Given the description of an element on the screen output the (x, y) to click on. 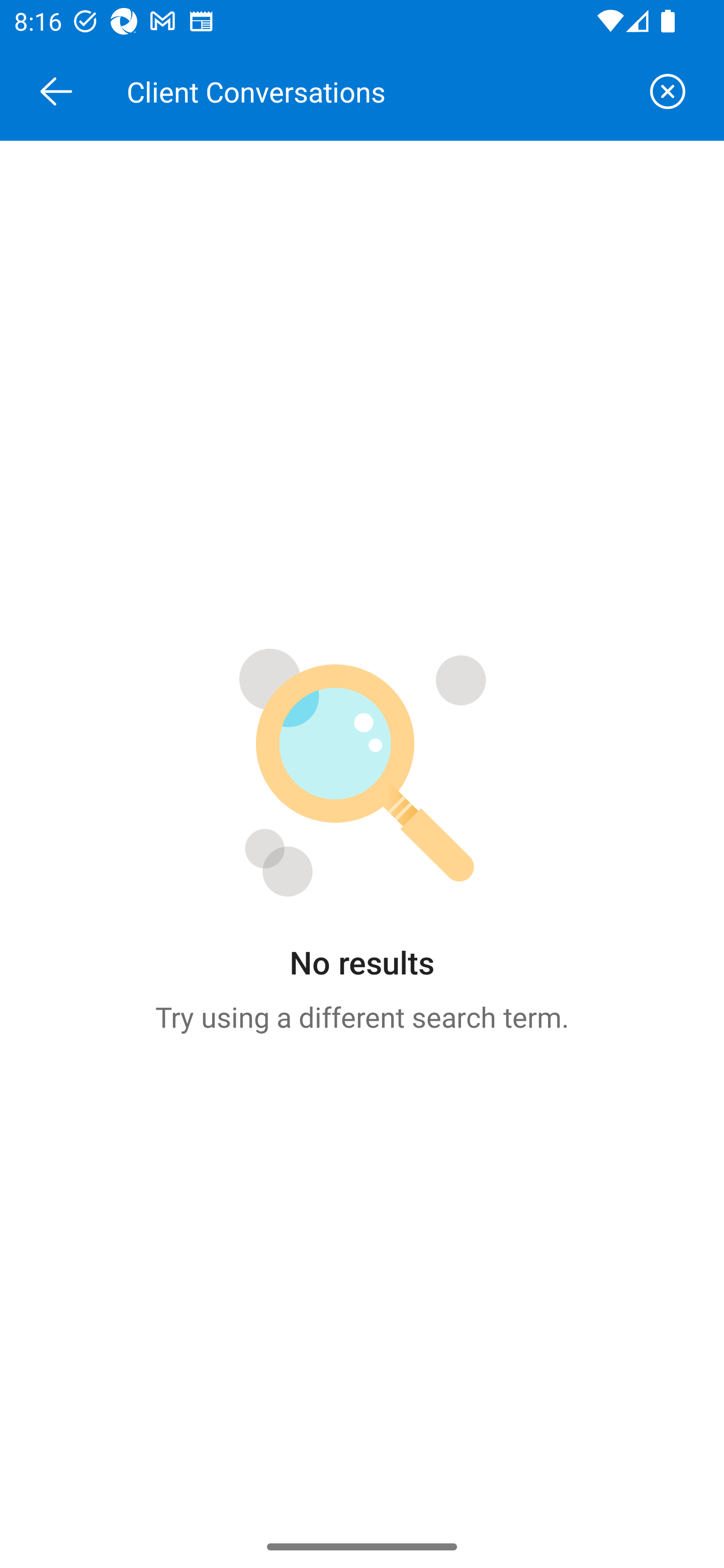
Back (55, 91)
Client Conversations (375, 91)
clear search (667, 91)
